Given the description of an element on the screen output the (x, y) to click on. 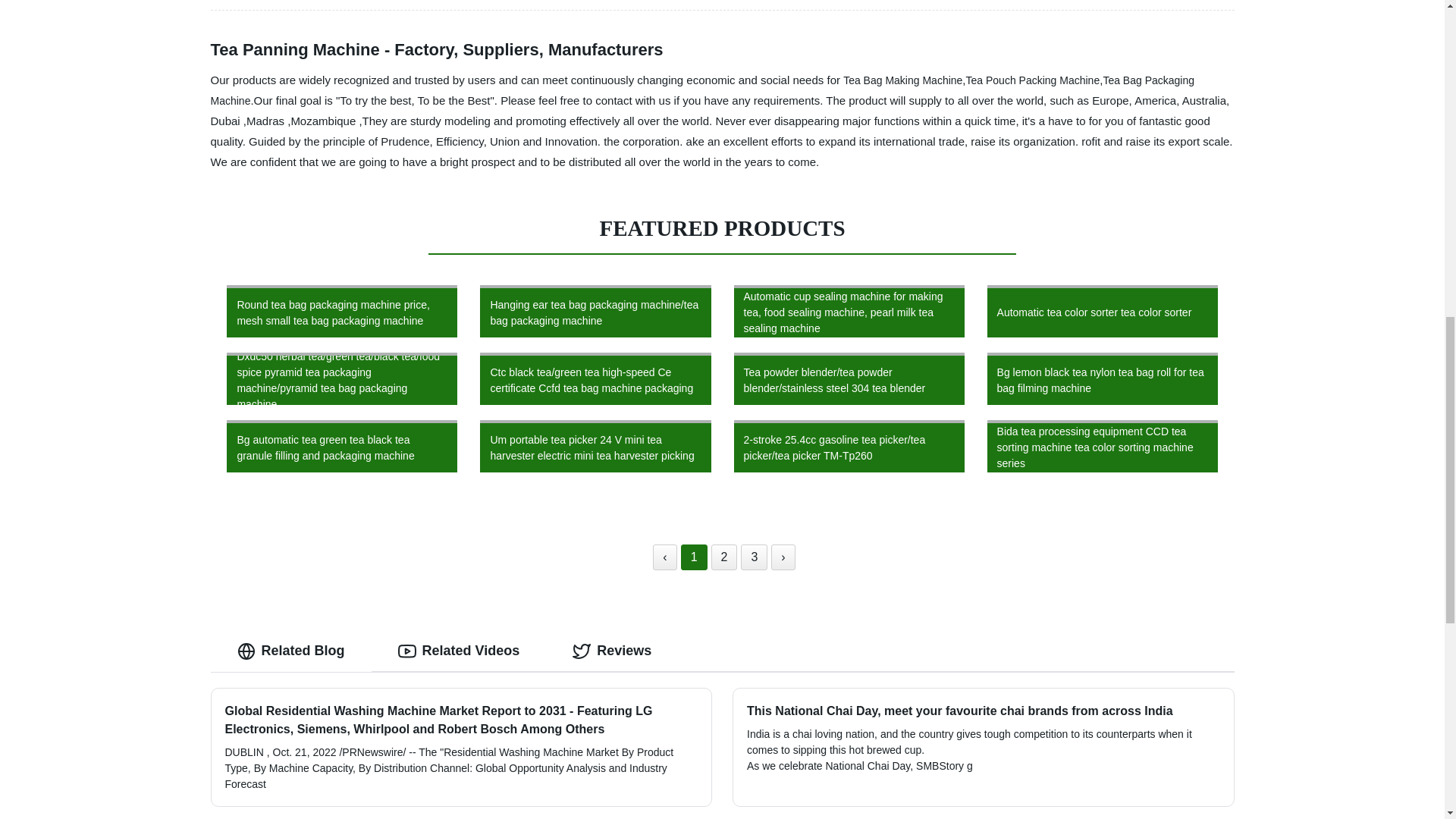
Tea Bag Making Machine (902, 80)
Tea Pouch Packing Machine (1033, 80)
Tea Bag Packaging Machine (703, 90)
Automatic tea color sorter tea color sorter (1101, 310)
Tea Pouch Packing Machine (1033, 80)
Tea Bag Making Machine (902, 80)
Tea Bag Packaging Machine (703, 90)
